Given the description of an element on the screen output the (x, y) to click on. 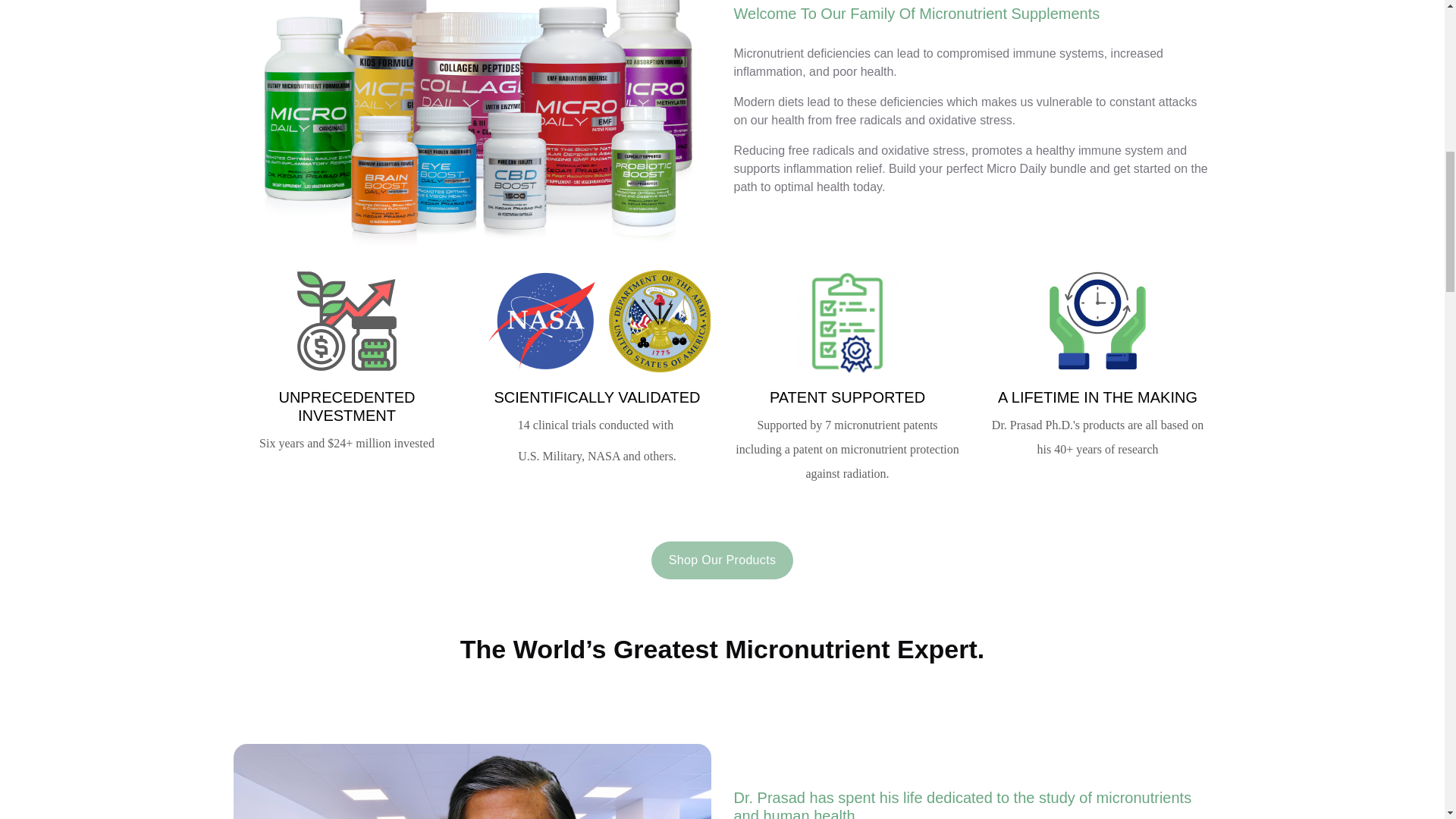
UNPRECEDENTED INVESTMENT (346, 406)
Shop Our Products (721, 558)
Shop Our Products (721, 560)
SCIENTIFICALLY VALIDATED (597, 397)
A LIFETIME IN THE MAKING (1096, 397)
PATENT SUPPORTED (847, 397)
